Given the description of an element on the screen output the (x, y) to click on. 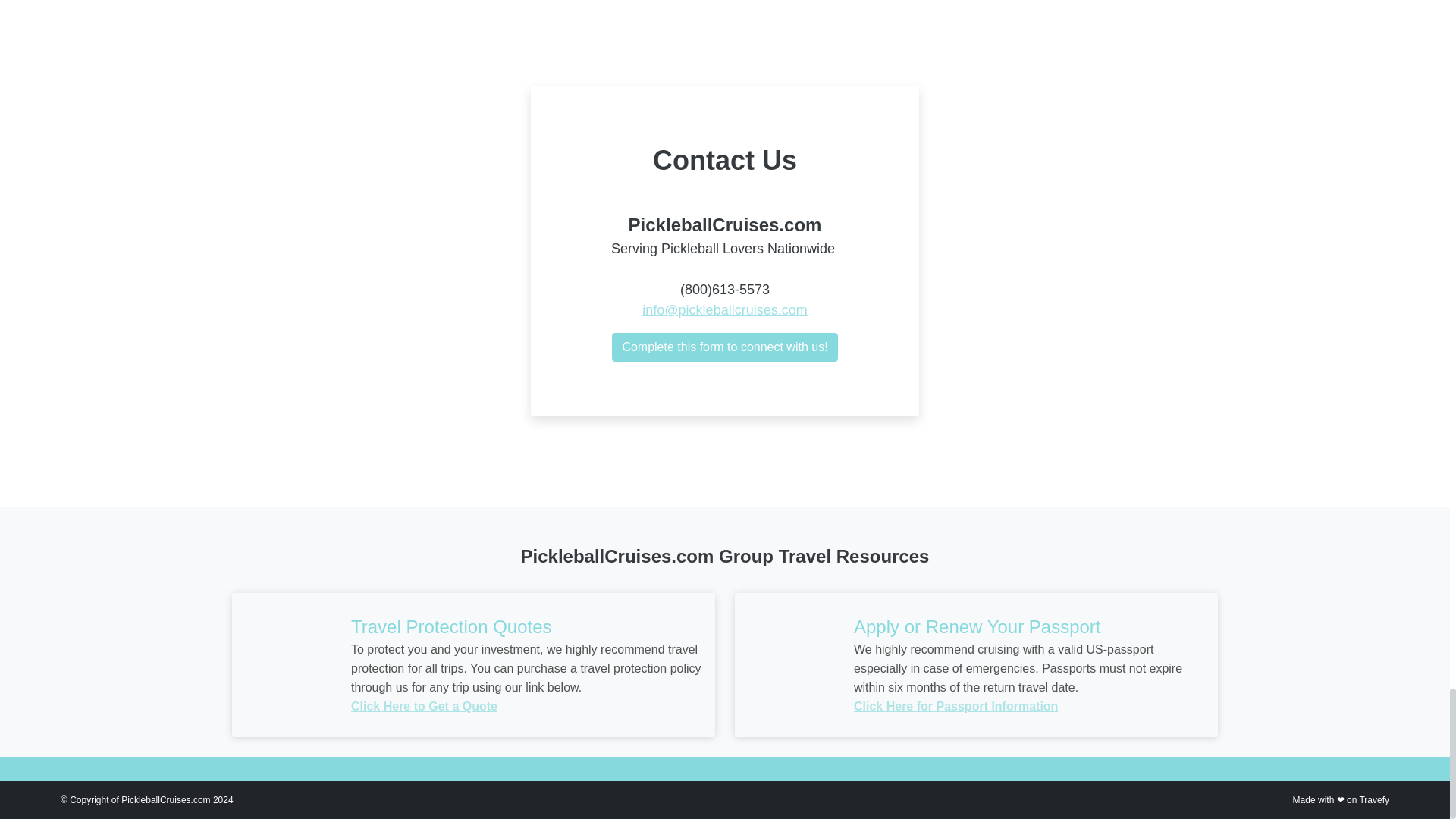
Complete this form to connect with us! (724, 346)
Click Here for Passport Information (955, 706)
Click Here to Get a Quote (423, 706)
